Given the description of an element on the screen output the (x, y) to click on. 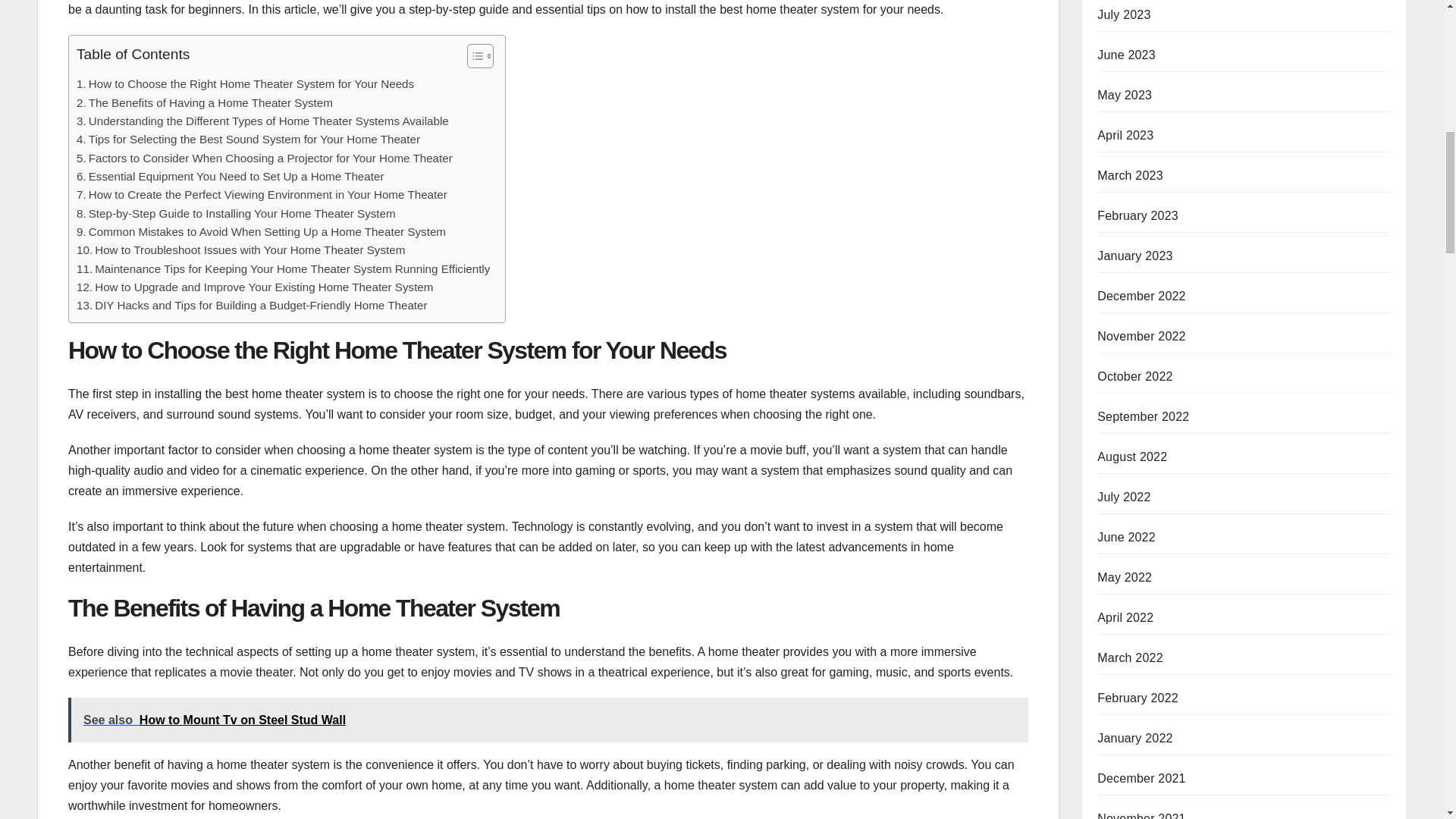
The Benefits of Having a Home Theater System (205, 103)
How to Upgrade and Improve Your Existing Home Theater System (254, 287)
How to Troubleshoot Issues with Your Home Theater System (240, 249)
How to Troubleshoot Issues with Your Home Theater System (240, 249)
How to Choose the Right Home Theater System for Your Needs (245, 84)
Step-by-Step Guide to Installing Your Home Theater System (236, 213)
The Benefits of Having a Home Theater System (205, 103)
See also  How to Mount Tv on Steel Stud Wall (547, 719)
